Given the description of an element on the screen output the (x, y) to click on. 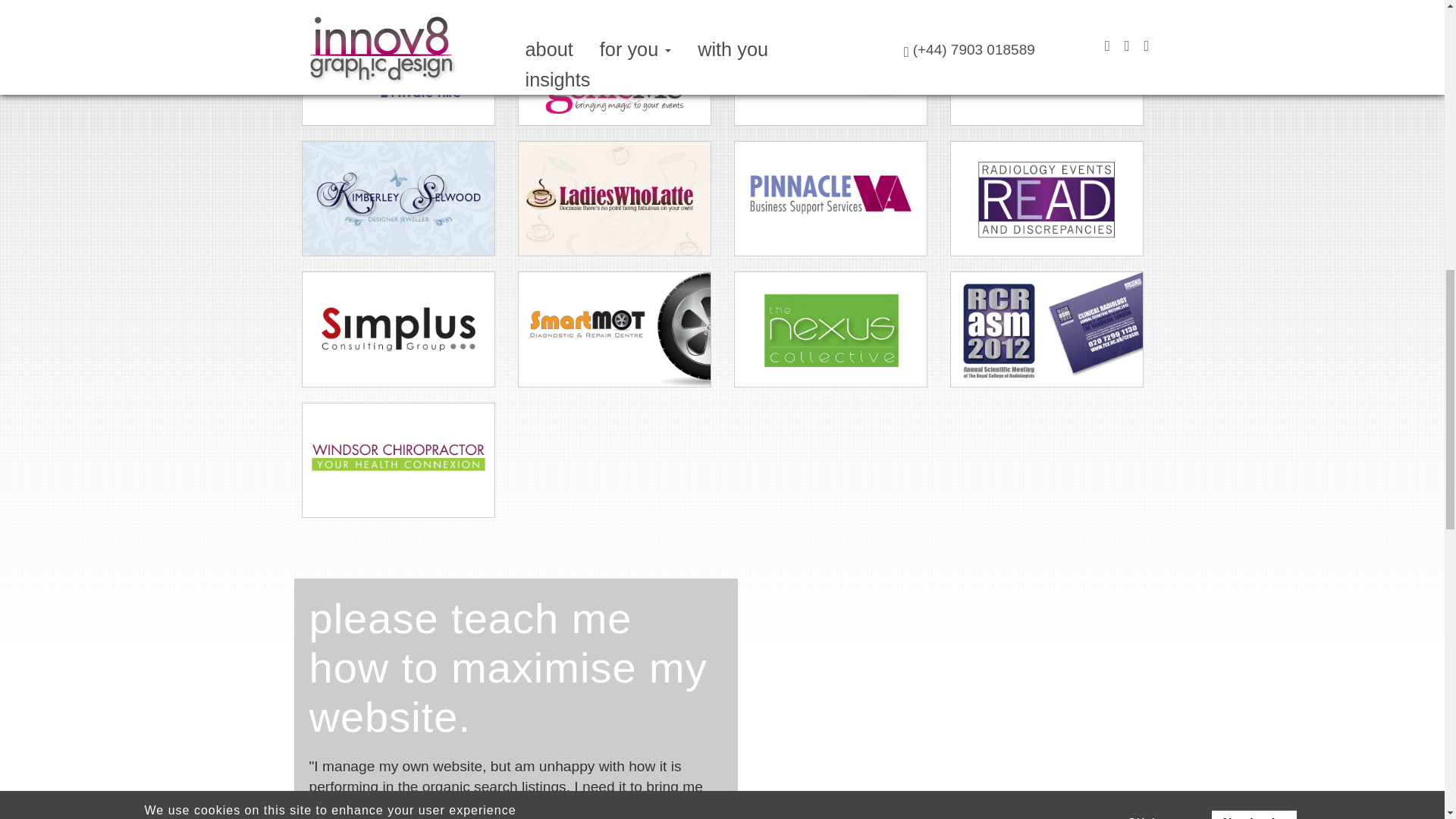
No, thanks (1254, 8)
More info (721, 14)
OK, I agree (1157, 7)
